Given the description of an element on the screen output the (x, y) to click on. 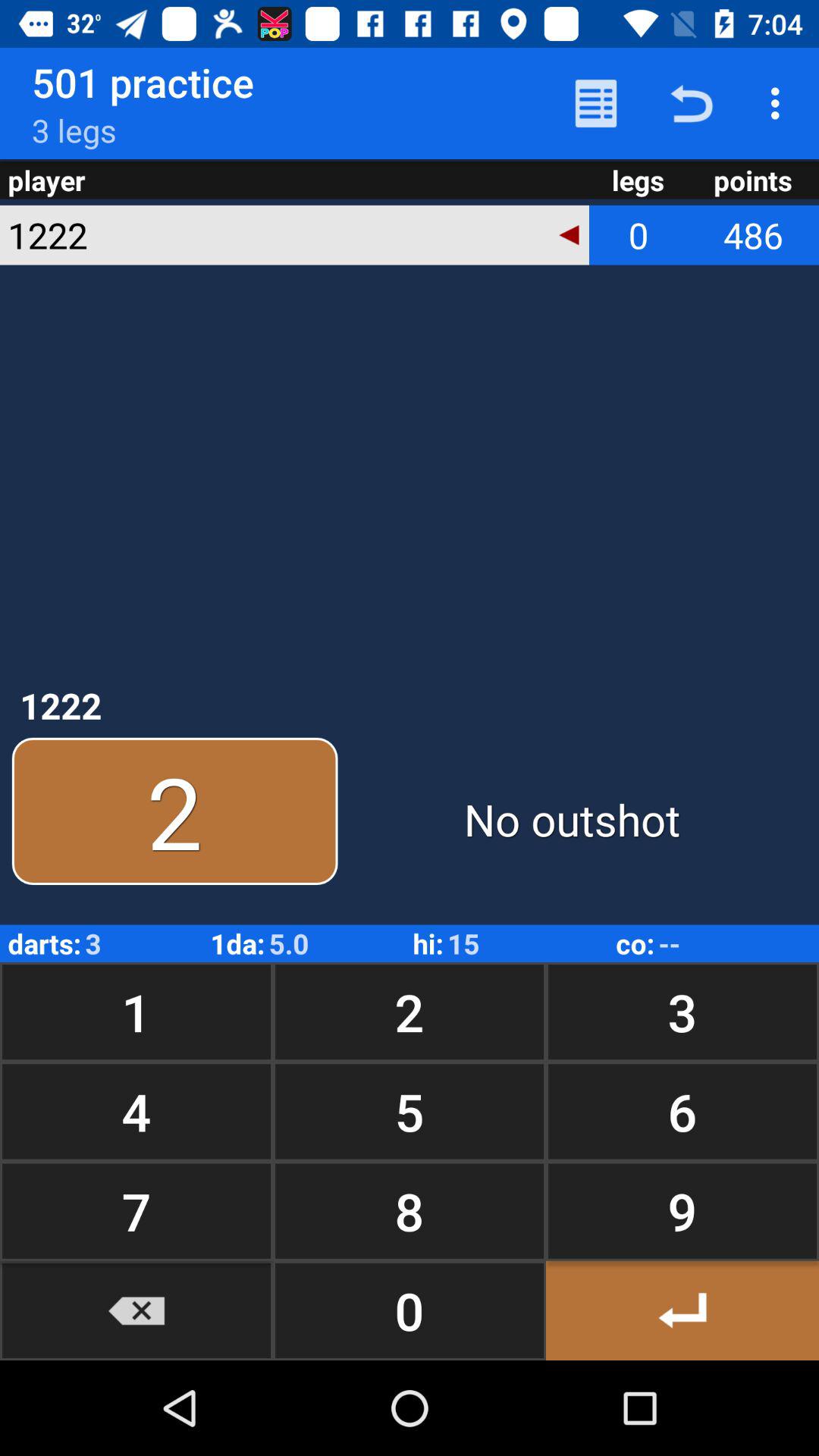
turn on button to the right of 8 button (682, 1310)
